Given the description of an element on the screen output the (x, y) to click on. 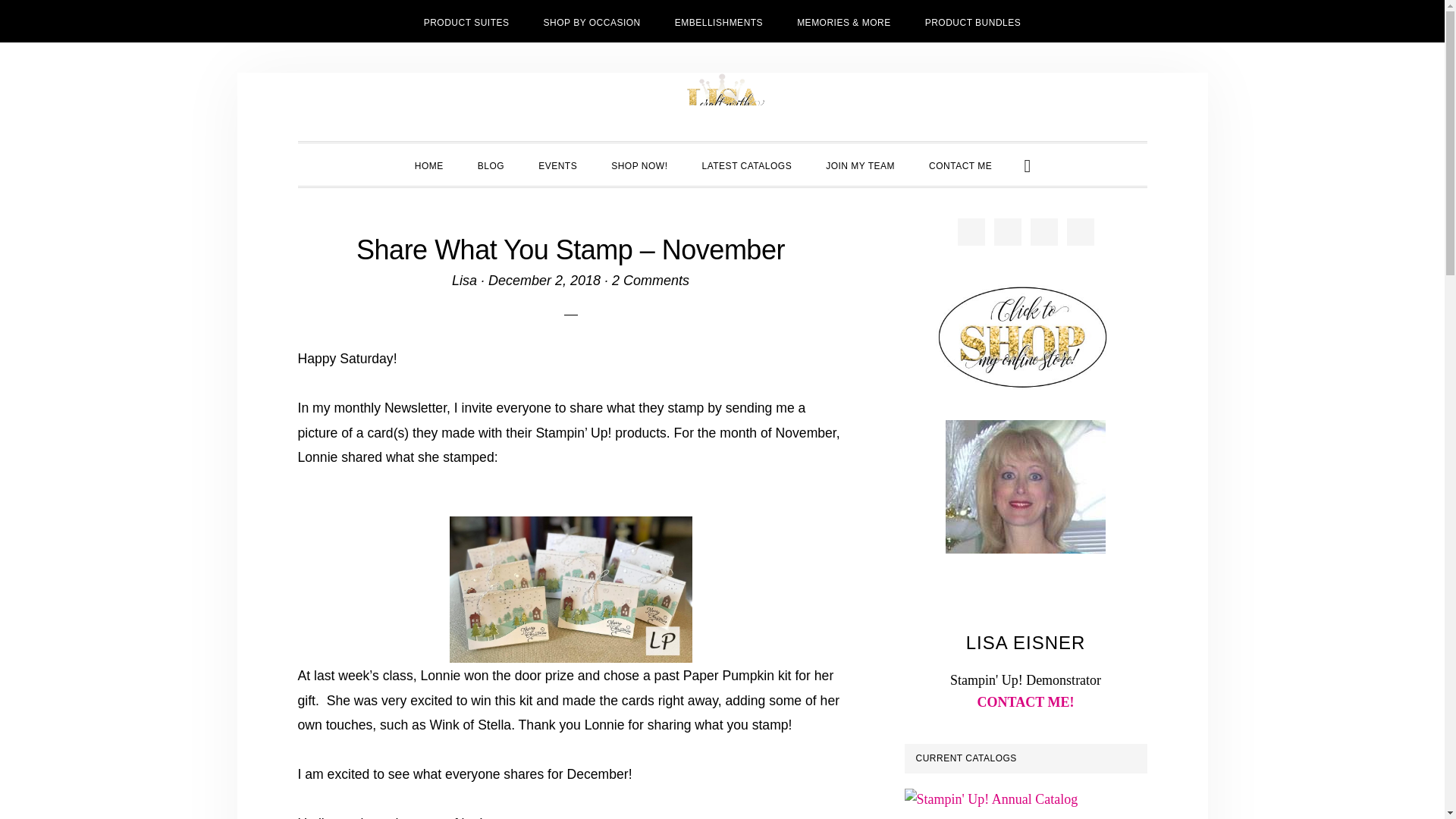
PRODUCT BUNDLES (973, 21)
Lisa (464, 280)
PRODUCT SUITES (466, 21)
LATEST CATALOGS (747, 164)
HOME (428, 164)
CONTACT ME (960, 164)
SHOP BY OCCASION (591, 21)
BLOG (491, 164)
EVENTS (557, 164)
JOIN MY TEAM (860, 164)
